Given the description of an element on the screen output the (x, y) to click on. 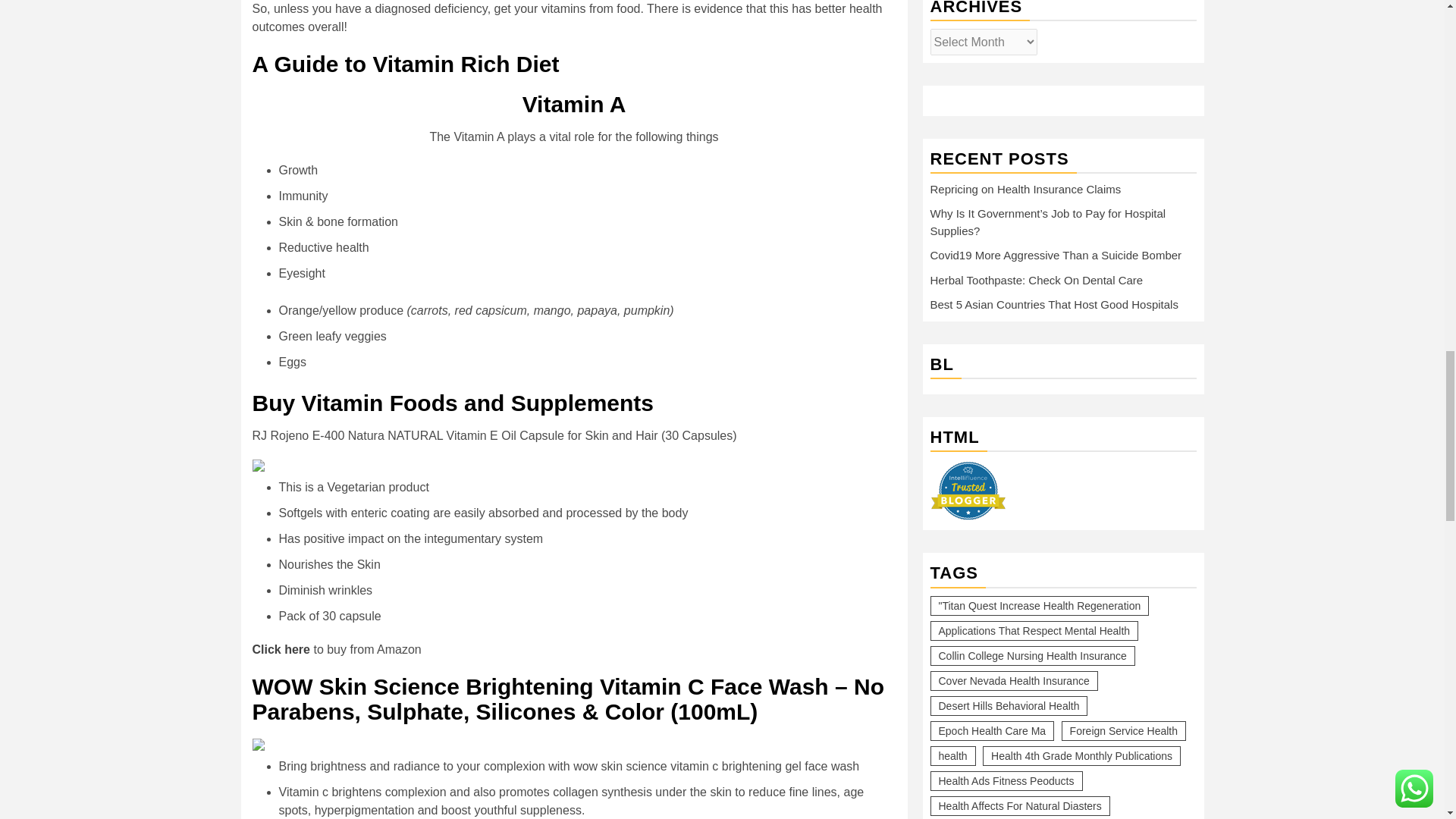
Click here (279, 649)
